Given the description of an element on the screen output the (x, y) to click on. 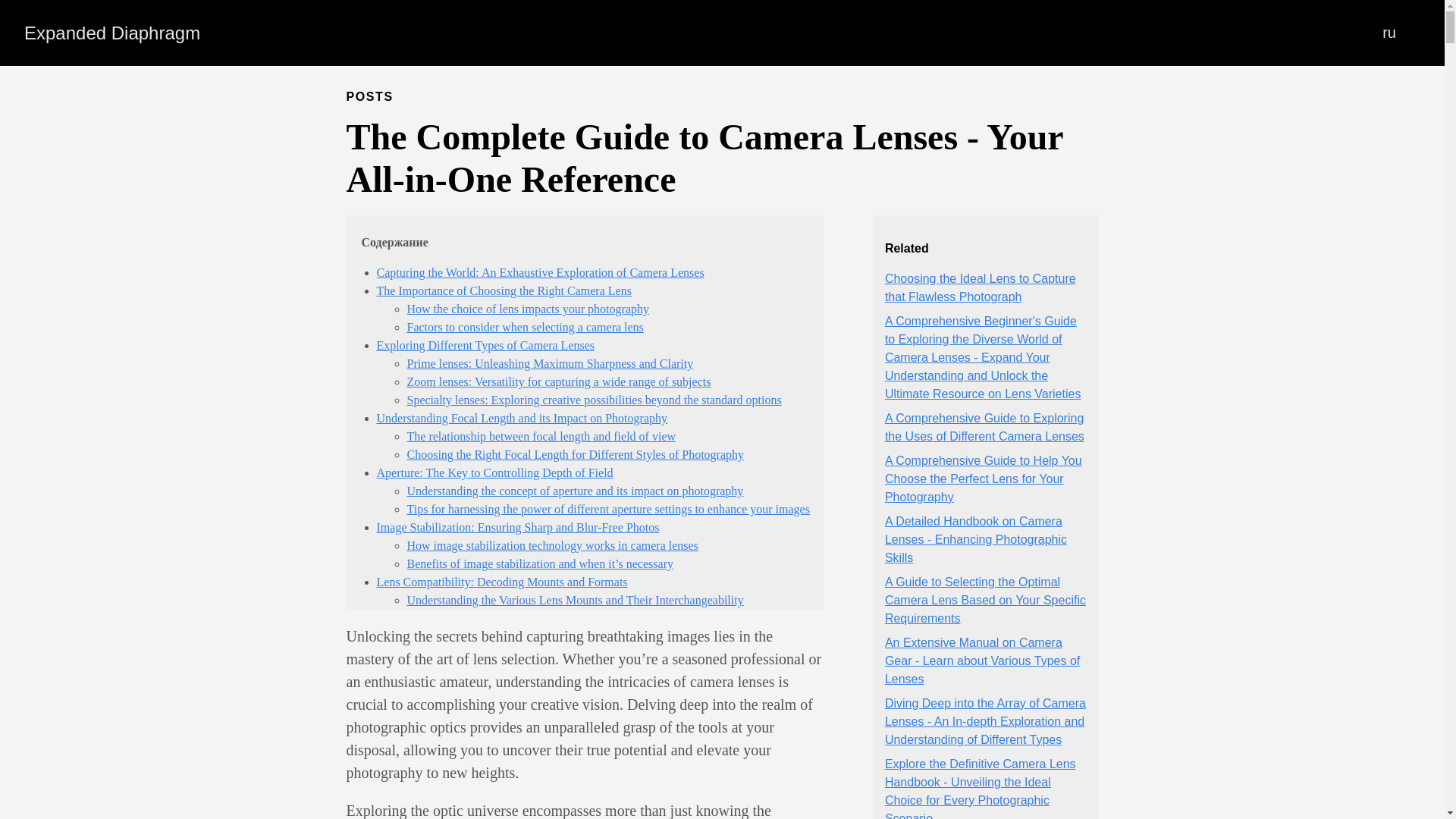
Image Stabilization: Ensuring Sharp and Blur-Free Photos (517, 526)
The relationship between focal length and field of view (540, 436)
Factors to consider when selecting a camera lens (524, 327)
Aperture: The Key to Controlling Depth of Field (493, 472)
